Given the description of an element on the screen output the (x, y) to click on. 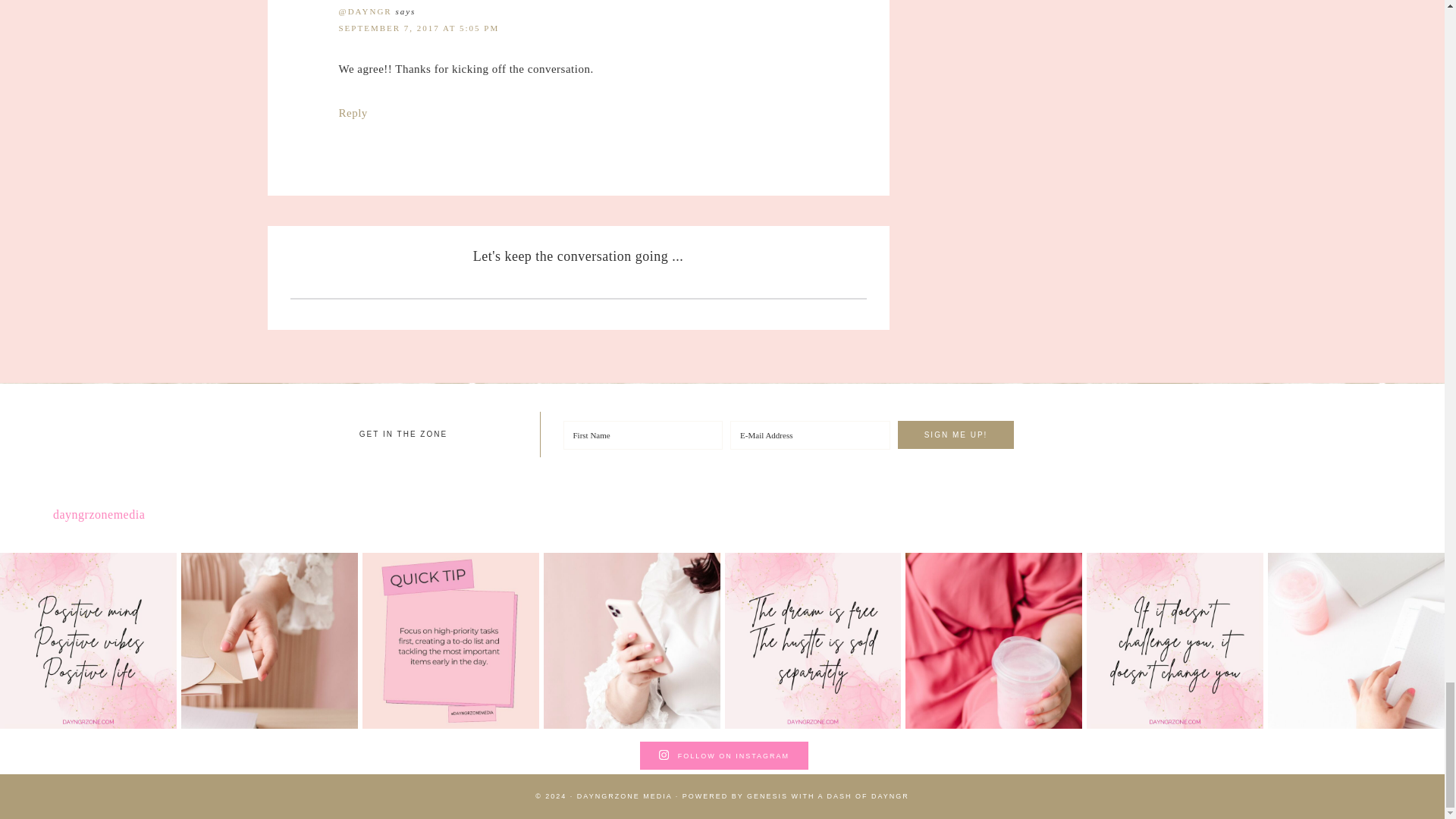
Sign me up! (956, 434)
